Given the description of an element on the screen output the (x, y) to click on. 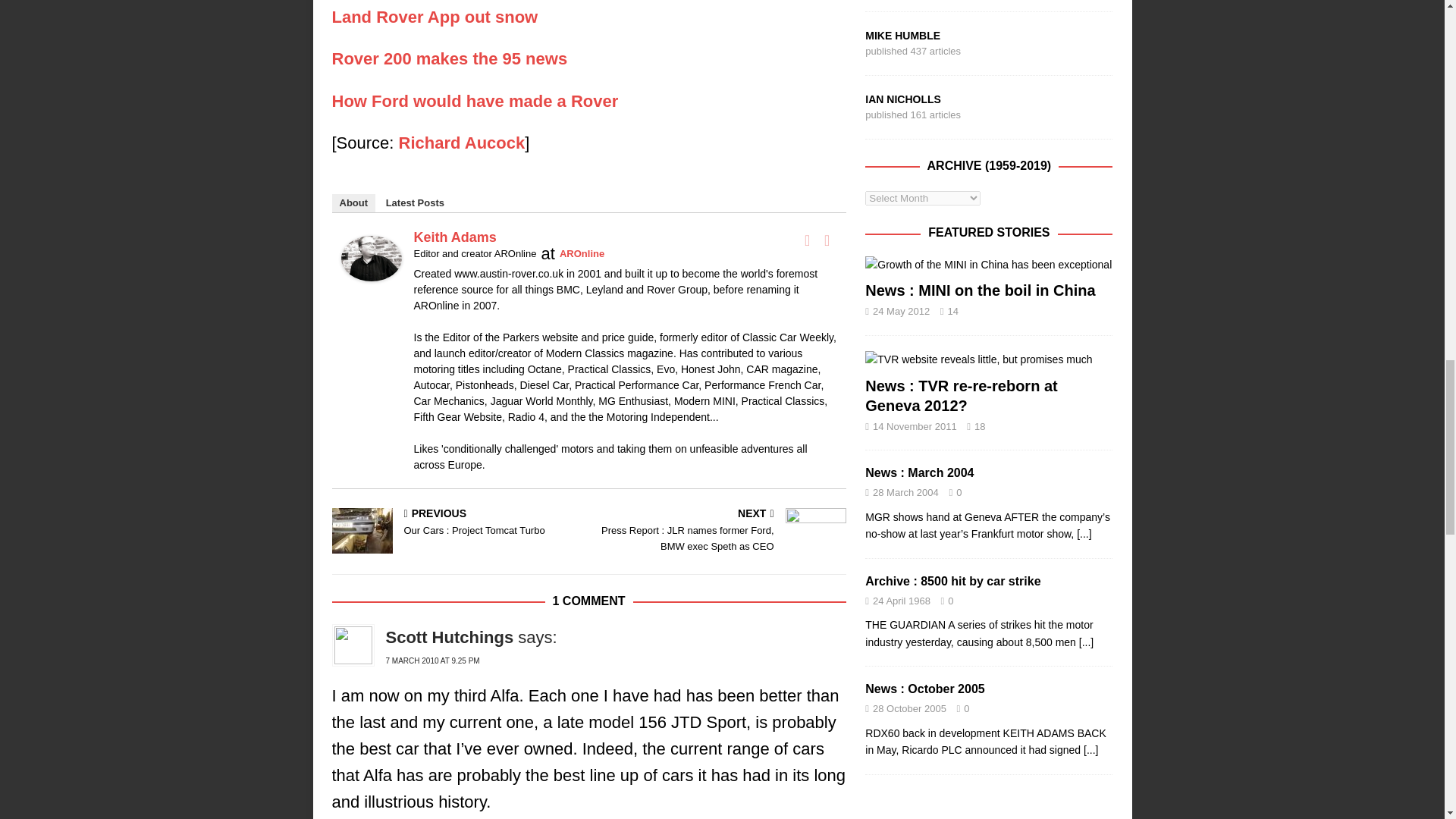
Rover 200 makes the 95 news (449, 58)
Land Rover snow App (434, 16)
Facebook (806, 239)
Keith Adams (370, 267)
How Ford would have made a Rover (474, 100)
Twitter (826, 239)
